Given the description of an element on the screen output the (x, y) to click on. 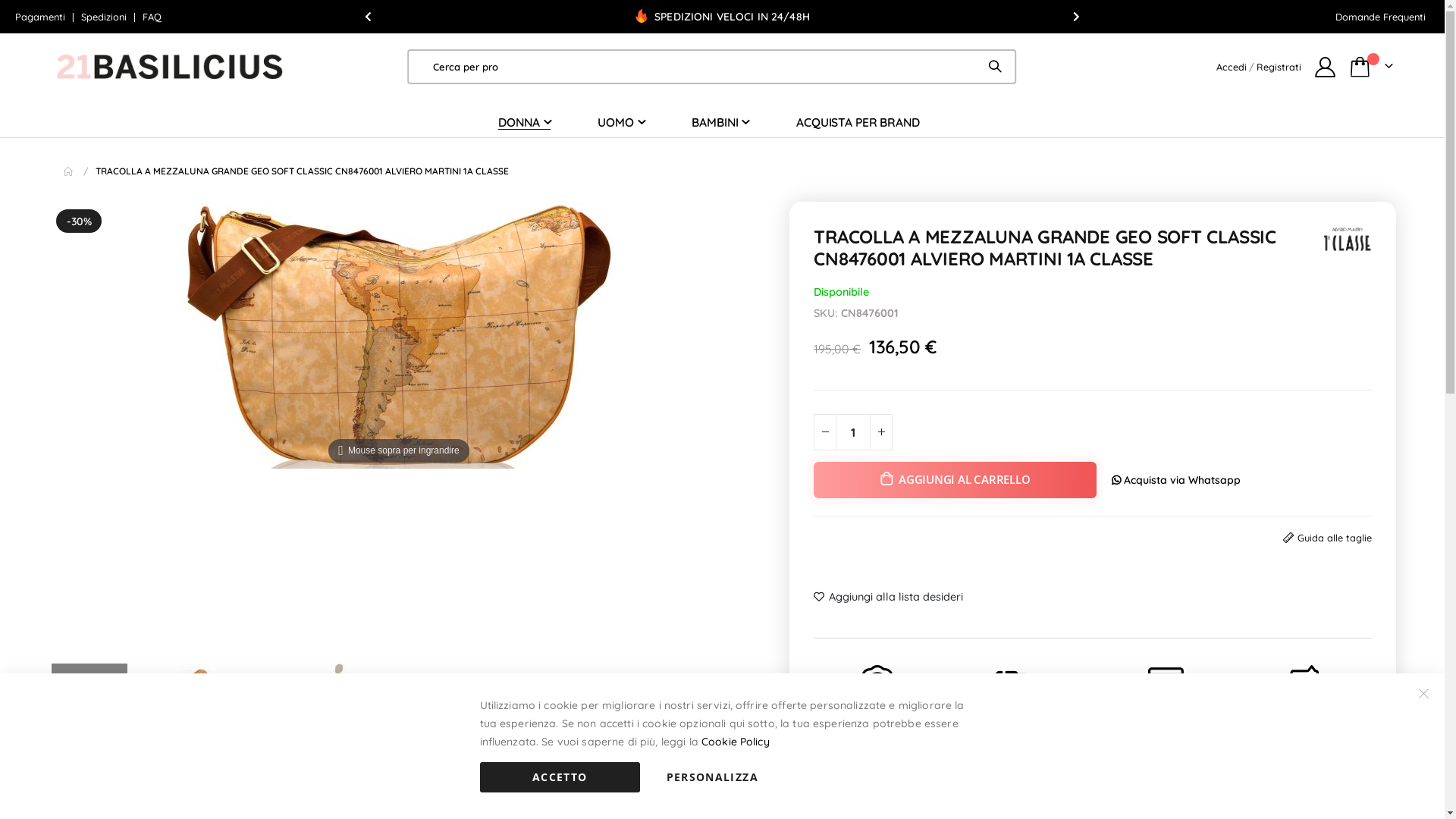
Carrello Element type: text (1371, 66)
ACQUISTA PER BRAND Element type: text (857, 121)
BAMBINI Element type: text (720, 121)
ACCETTO Element type: text (559, 777)
My Account Element type: hover (1325, 66)
PERSONALIZZA Element type: text (712, 777)
Spedizioni Element type: text (105, 16)
UOMO Element type: text (620, 121)
DONNA Element type: text (524, 122)
Acquista via Whatsapp Element type: text (1175, 479)
HOME Element type: text (68, 171)
Cookie Policy Element type: text (735, 741)
ALVIERO MARTINI 1A CLASSE Element type: hover (1347, 238)
ALVIERO MARTINI 1A CLASSE Element type: hover (1347, 237)
Accedi Element type: text (1231, 66)
Domande Frequenti Element type: text (1380, 16)
AGGIUNGI AL CARRELLO Element type: text (954, 479)
FAQ Element type: text (151, 16)
Registrati Element type: text (1278, 66)
Search Element type: hover (999, 65)
Guida alle taglie Element type: text (1334, 537)
Mouse sopra per ingrandire Element type: text (398, 334)
Pagamenti Element type: text (41, 16)
Aggiungi alla lista desideri Element type: text (888, 597)
